Given the description of an element on the screen output the (x, y) to click on. 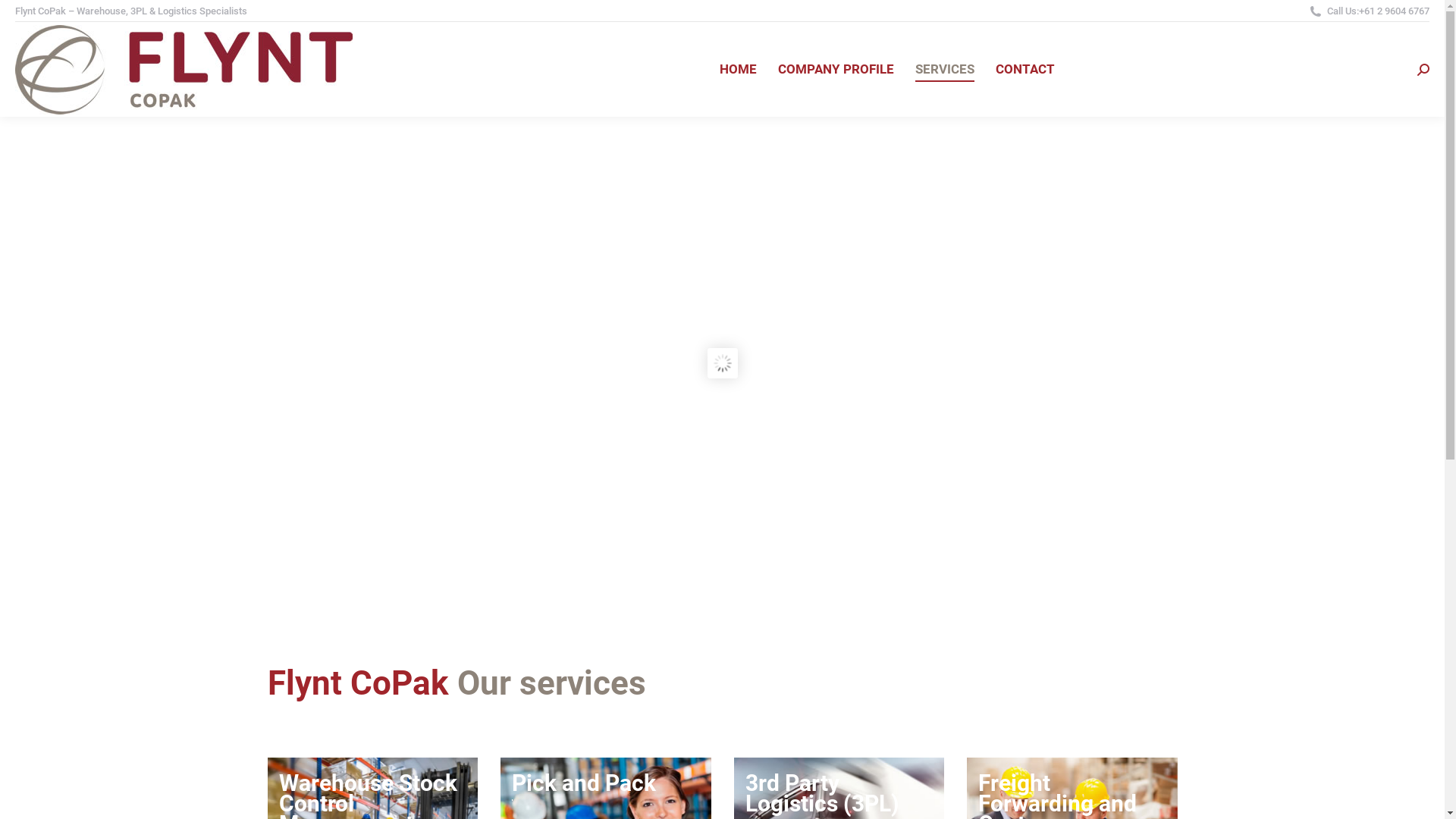
COMPANY PROFILE Element type: text (836, 69)
+61 2 9604 6767 Element type: text (1393, 10)
SERVICES Element type: text (943, 69)
CONTACT Element type: text (1024, 69)
Go! Element type: text (23, 16)
HOME Element type: text (737, 69)
